Given the description of an element on the screen output the (x, y) to click on. 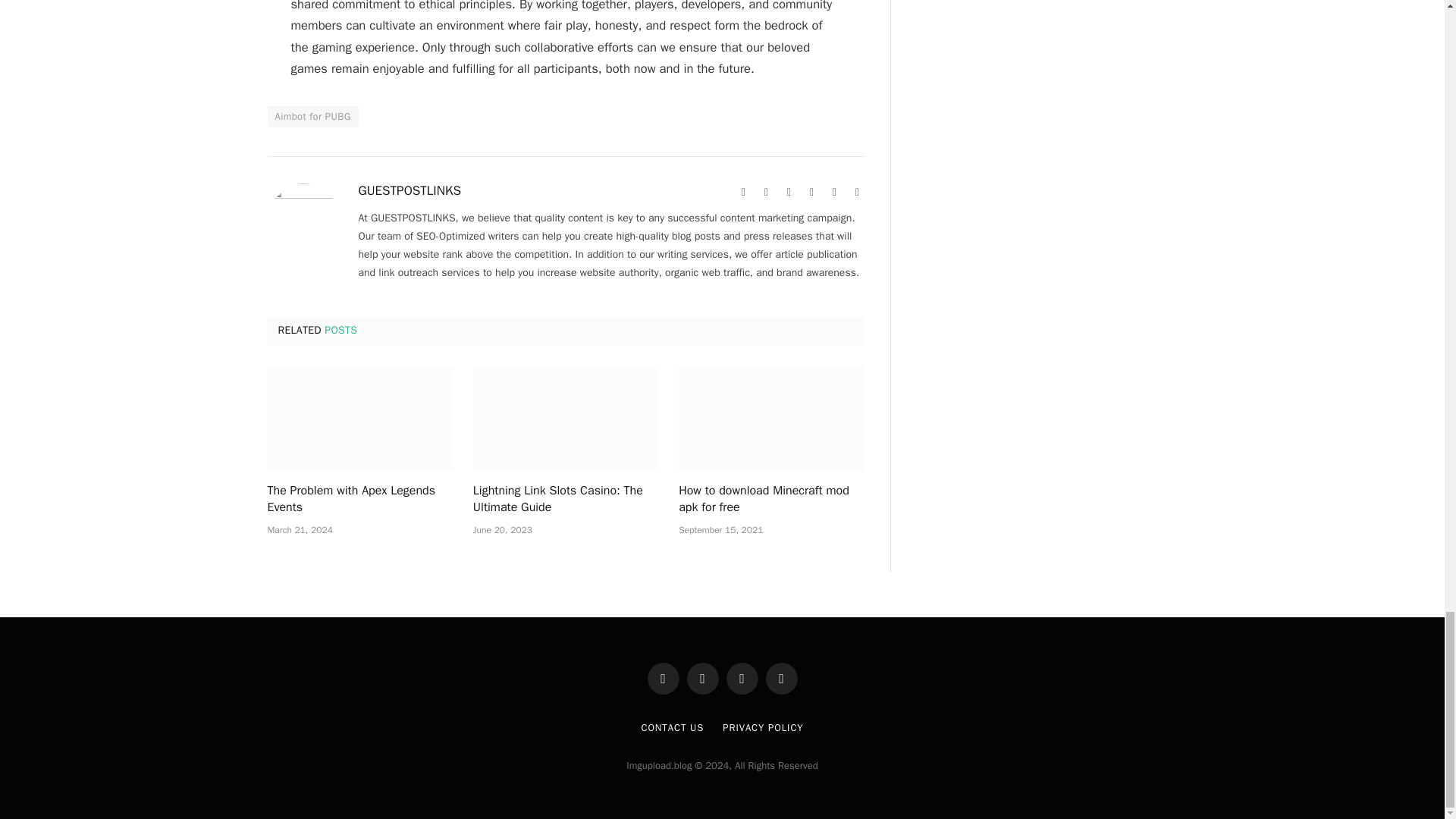
Facebook (765, 192)
Instagram (834, 192)
The Problem with Apex Legends Events (359, 499)
Instagram (834, 192)
Pinterest (810, 192)
Facebook (765, 192)
GUESTPOSTLINKS (409, 191)
Aimbot for PUBG (312, 116)
Posts by GUESTPOSTLINKS (409, 191)
Lightning Link Slots Casino: The Ultimate Guide (566, 499)
